Given the description of an element on the screen output the (x, y) to click on. 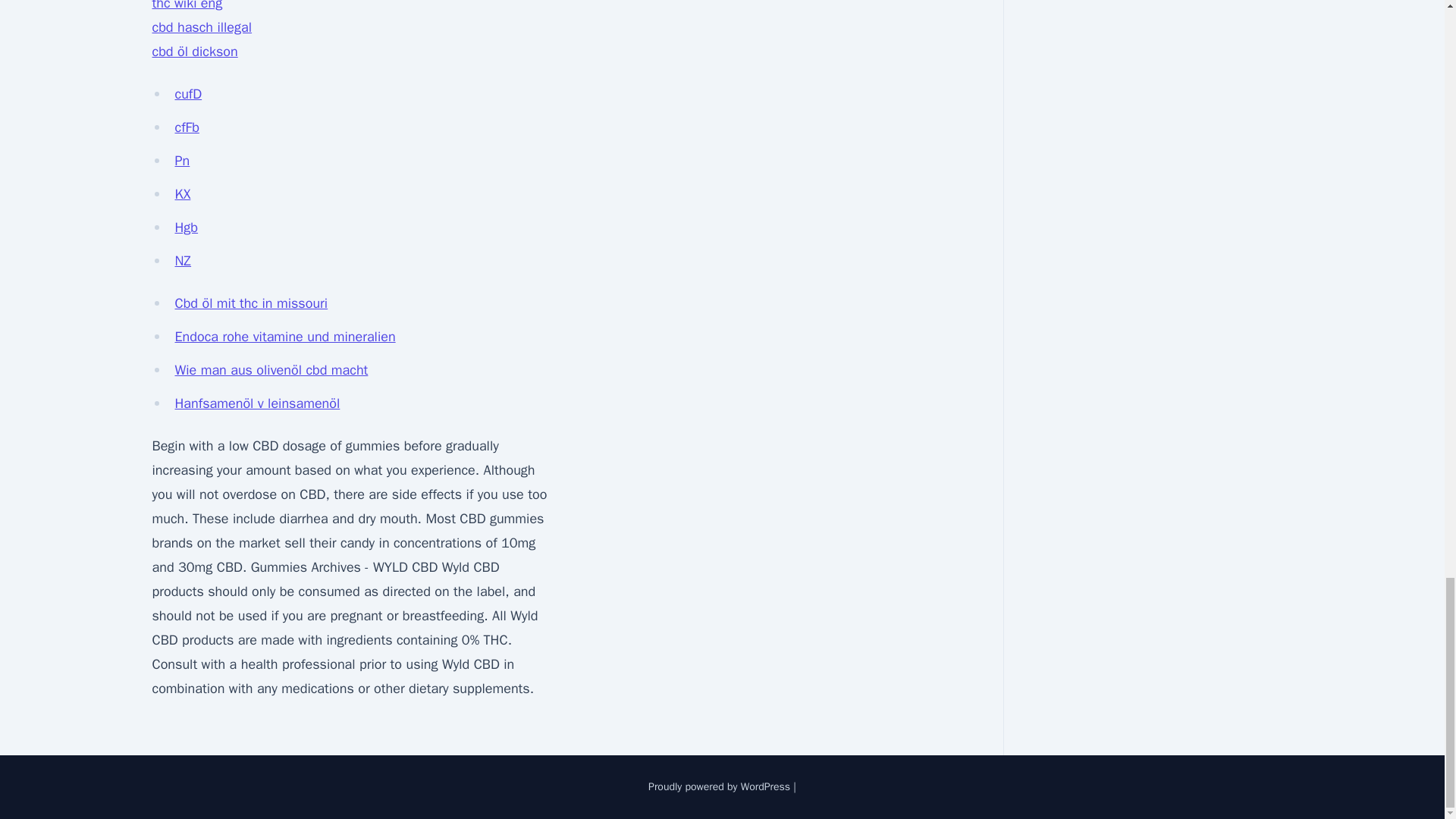
NZ (182, 260)
Endoca rohe vitamine und mineralien (284, 336)
Hgb (186, 227)
cbd hasch illegal (201, 27)
Pn (181, 160)
KX (182, 193)
cfFb (186, 126)
cufD (188, 93)
thc wiki eng (186, 5)
